Given the description of an element on the screen output the (x, y) to click on. 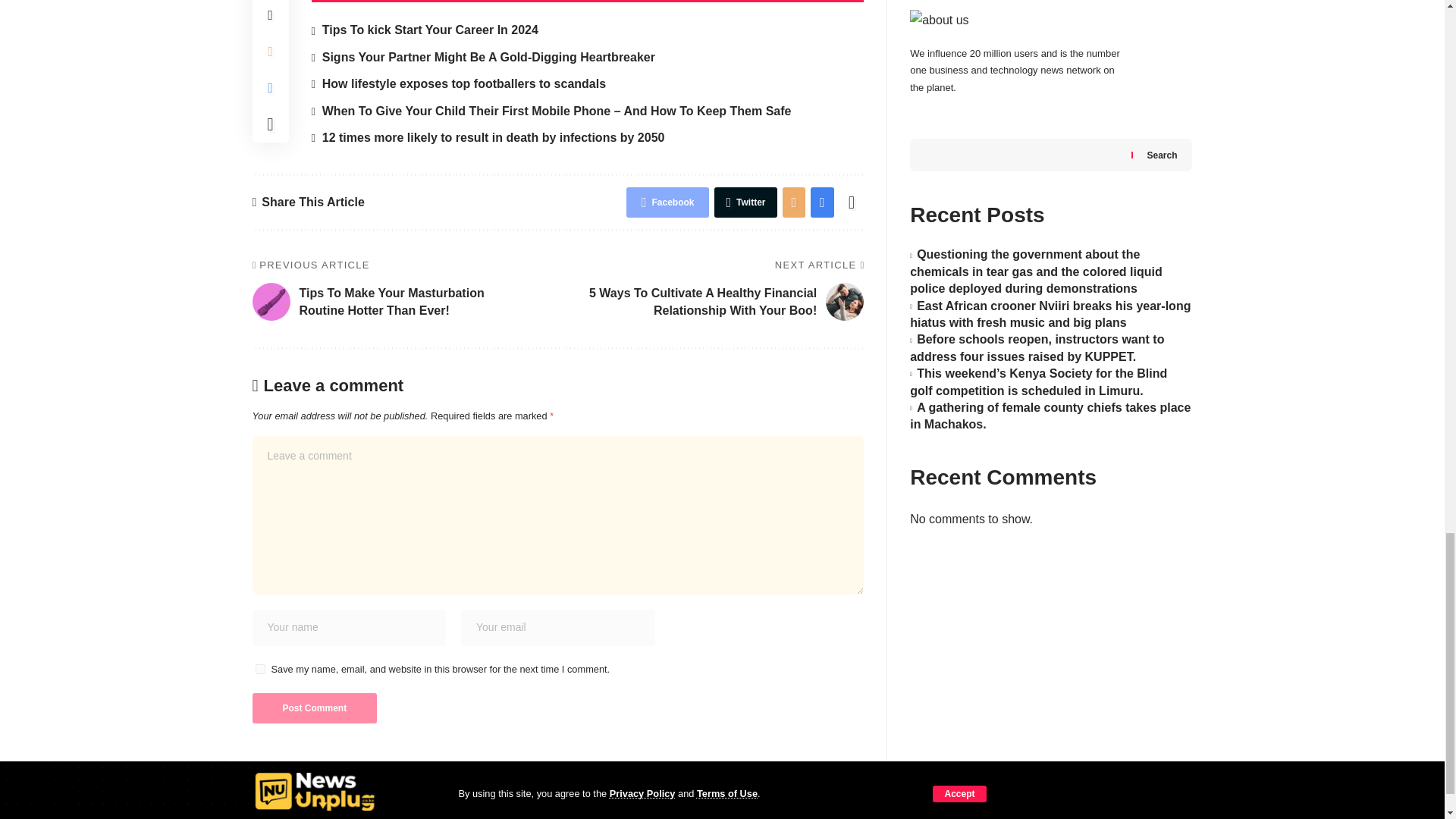
yes (259, 669)
Newsunplug Kenya (314, 791)
Post Comment (314, 707)
